Given the description of an element on the screen output the (x, y) to click on. 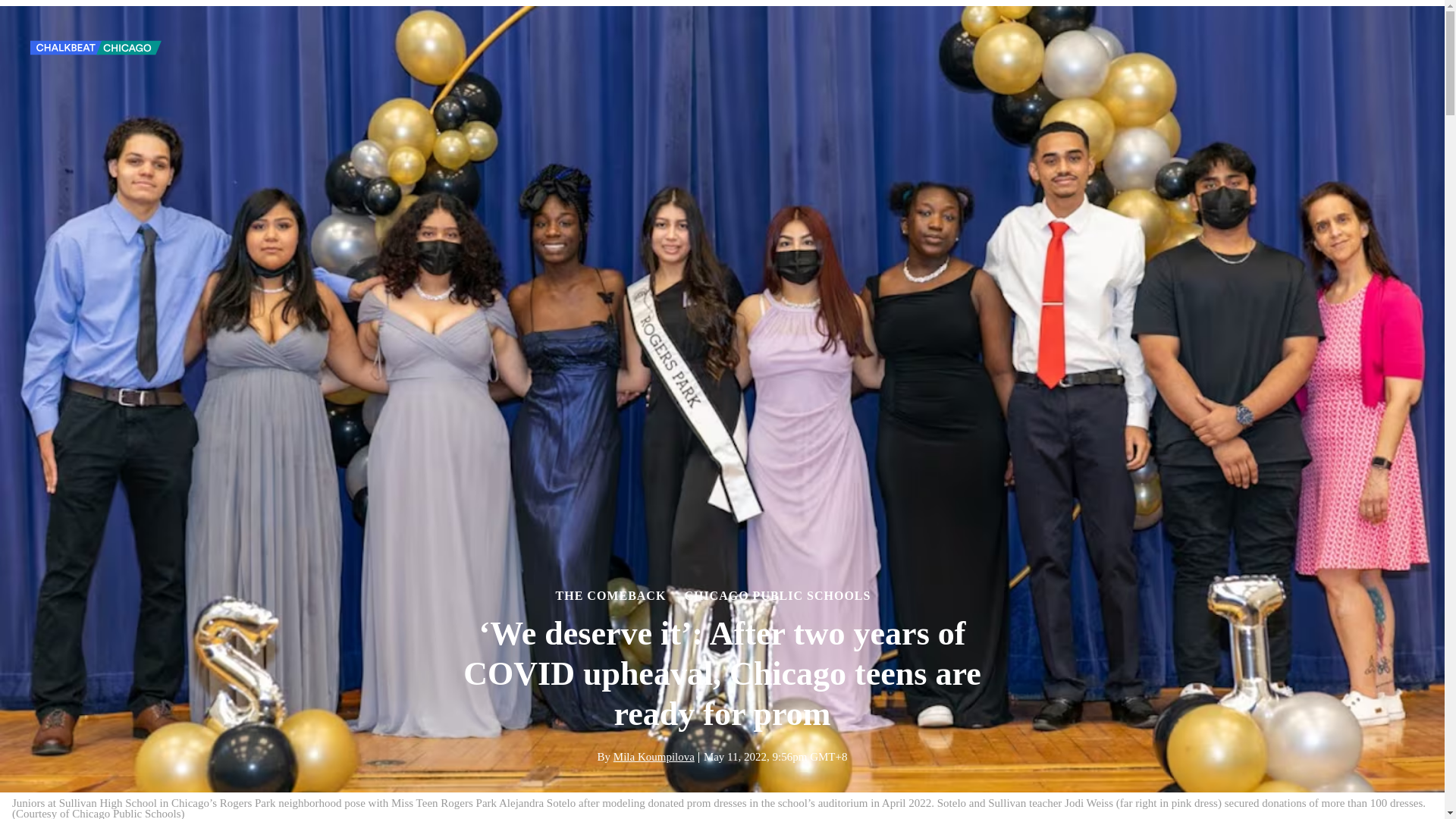
CHICAGO PUBLIC SCHOOLS (777, 594)
Mila Koumpilova (653, 756)
THE COMEBACK (611, 594)
